Given the description of an element on the screen output the (x, y) to click on. 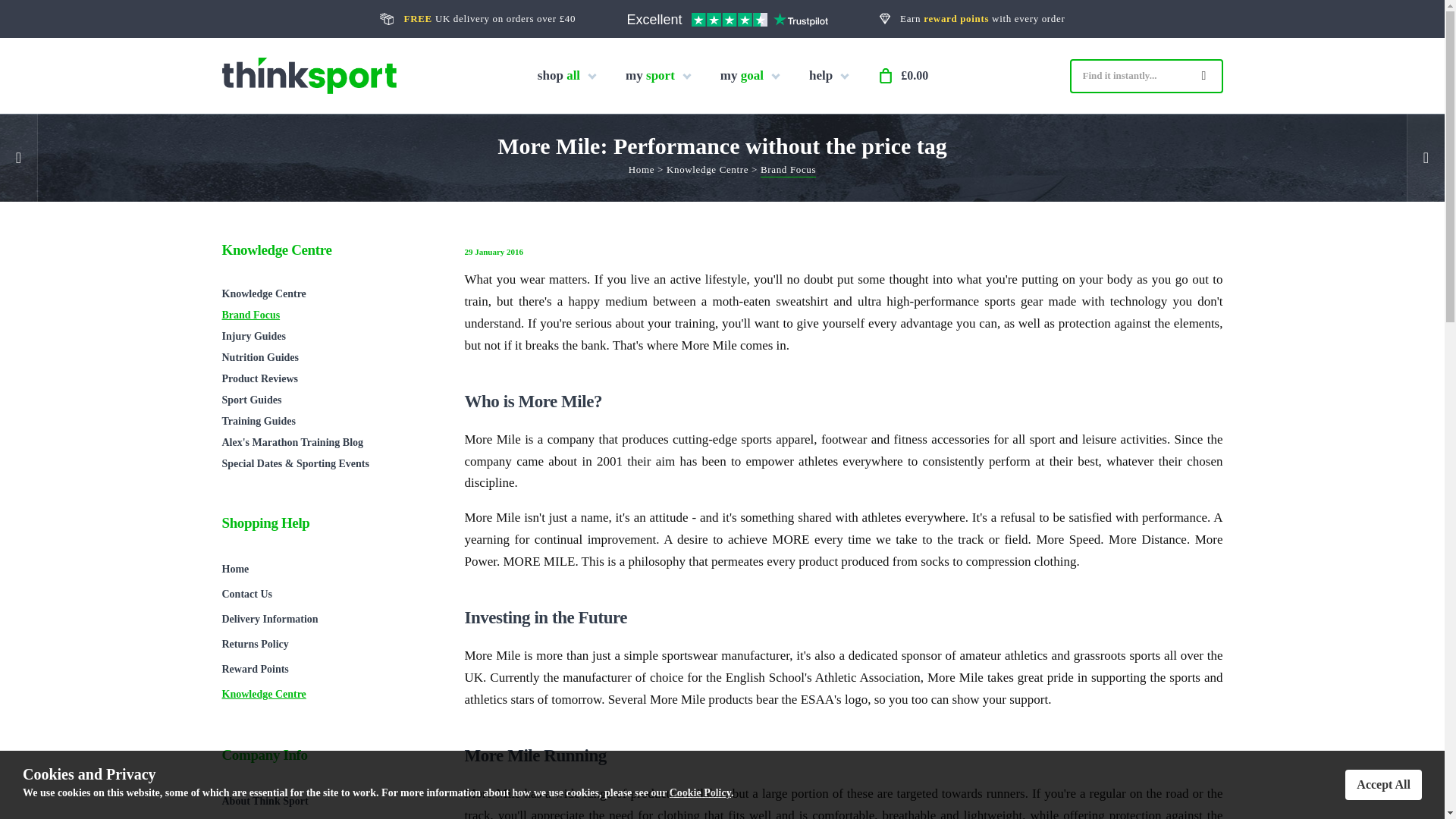
Training Guides (327, 421)
Knowledge Centre (327, 293)
Alex's Marathon Training Blog (327, 442)
Brand Focus (787, 170)
Home (640, 170)
About Think Sport (327, 801)
Returns Policy (327, 643)
Nutrition Guides (327, 357)
Delivery Information (327, 618)
Contact Us (327, 593)
Customer reviews powered by Trustpilot (726, 21)
Product Reviews (327, 378)
Home (327, 569)
Sport Guides (327, 400)
Reward Points (327, 668)
